Given the description of an element on the screen output the (x, y) to click on. 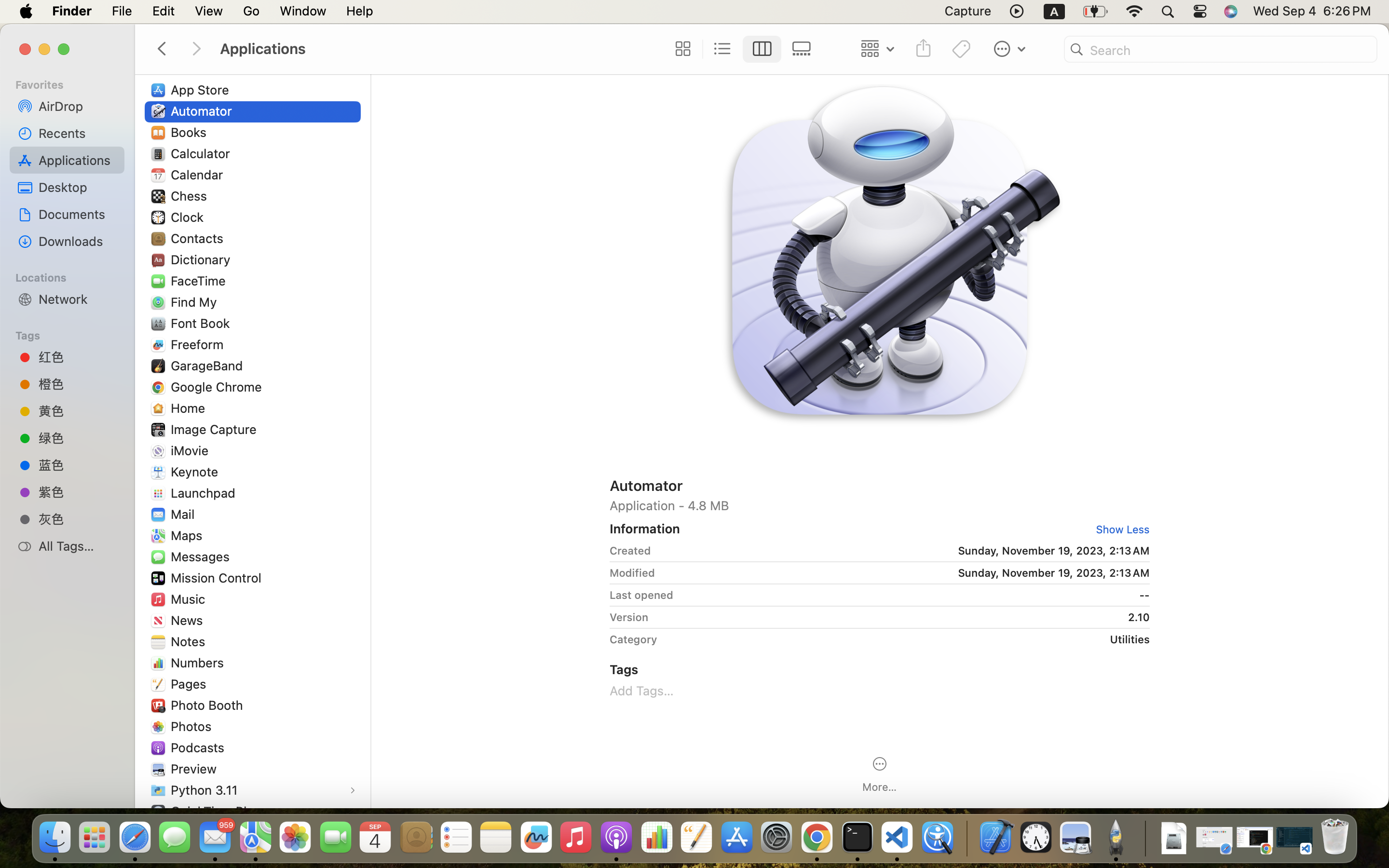
Application - 4.8 MB Element type: AXStaticText (879, 505)
-- Element type: AXStaticText (914, 594)
Music Element type: AXTextField (189, 598)
Information Element type: AXStaticText (644, 528)
Notes Element type: AXTextField (189, 641)
